Given the description of an element on the screen output the (x, y) to click on. 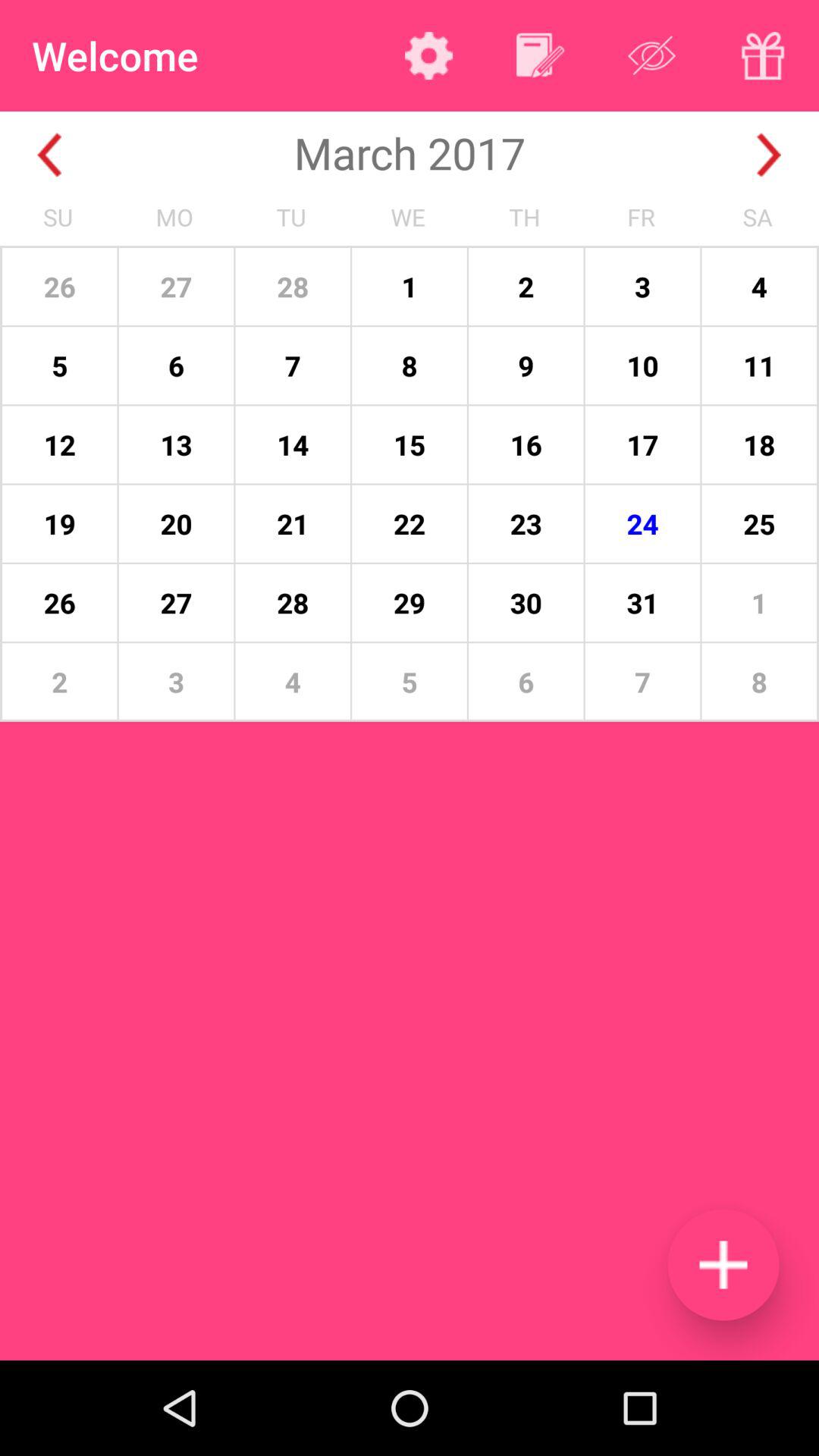
go to previous (49, 155)
